Given the description of an element on the screen output the (x, y) to click on. 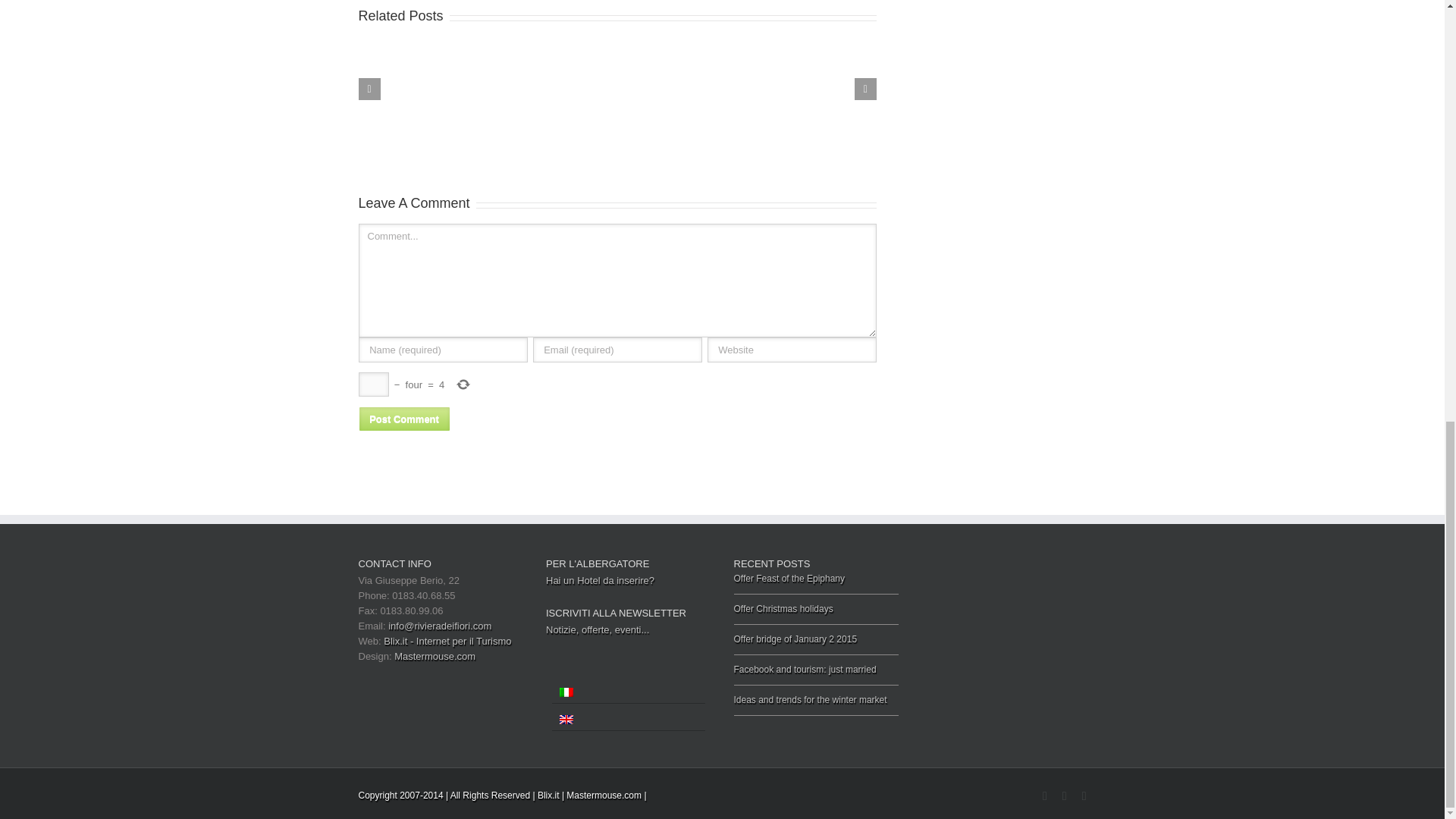
Italiano (566, 691)
Post Comment (403, 418)
